Given the description of an element on the screen output the (x, y) to click on. 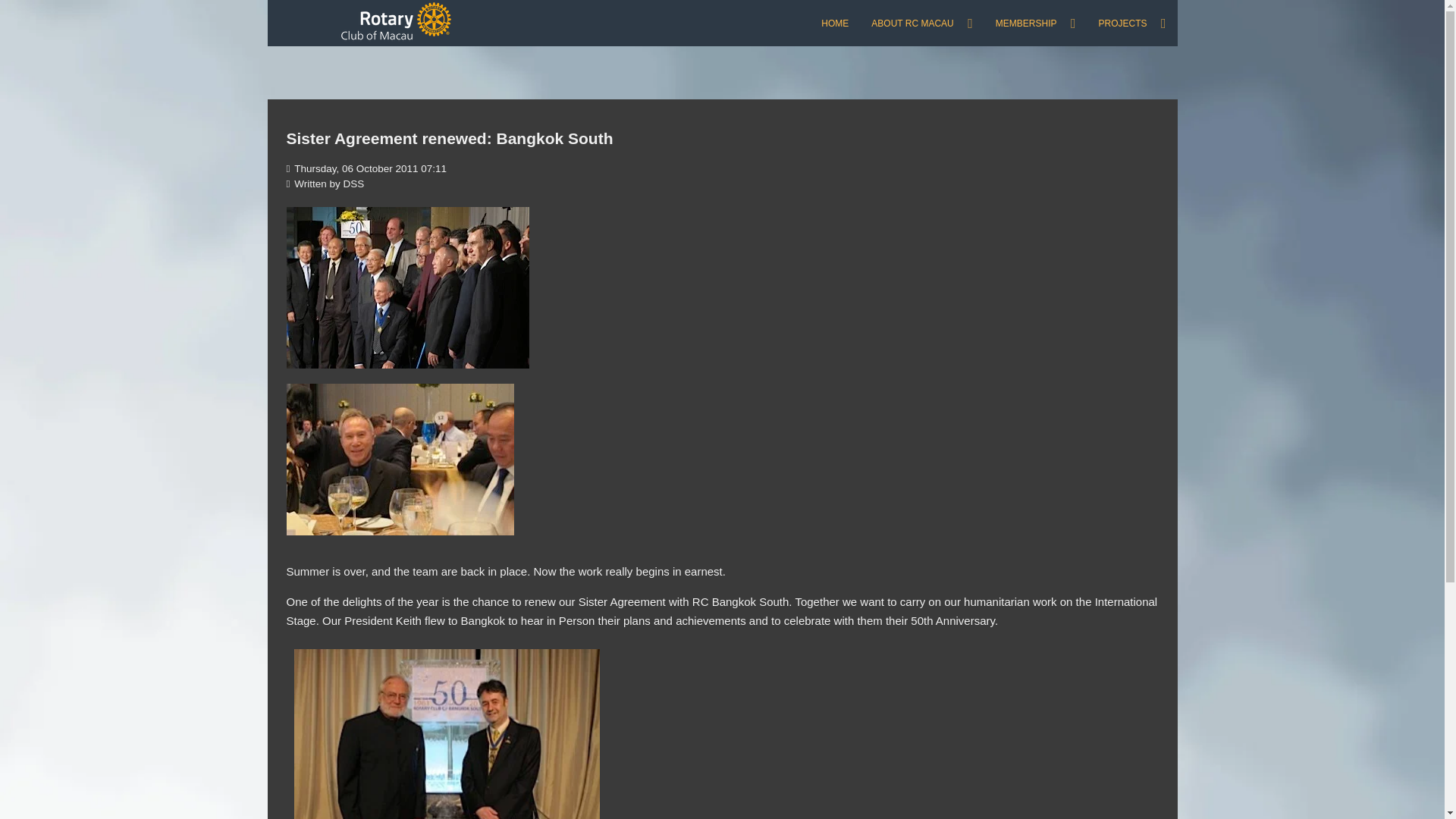
MEMBERSHIP (1035, 22)
6216156357 09f31caeb0 o (399, 459)
ABOUT RC MACAU (922, 22)
PROJECTS (1131, 22)
HOME (834, 22)
